Given the description of an element on the screen output the (x, y) to click on. 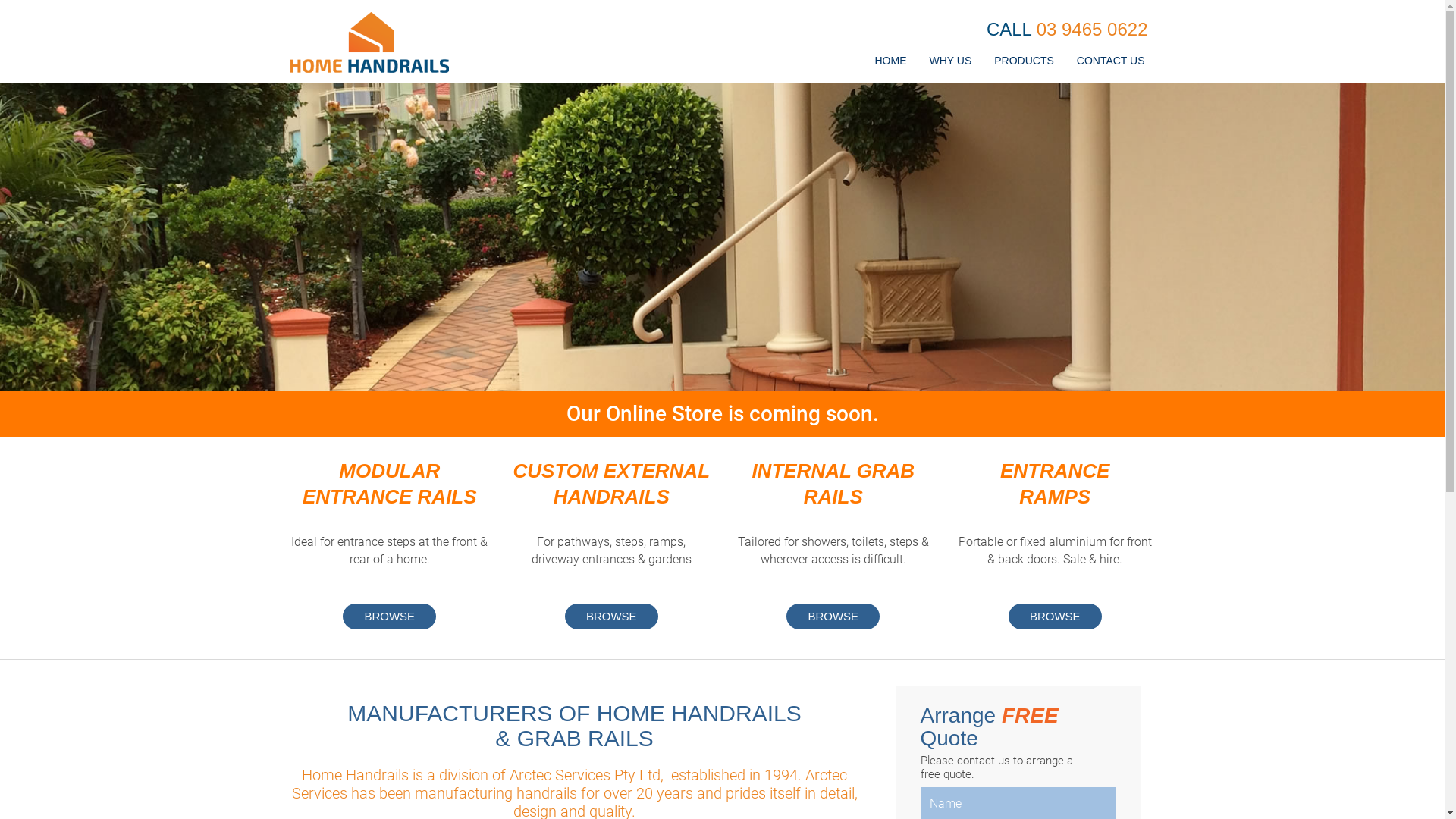
CALL 03 9465 0622 Element type: text (1067, 29)
HOME Element type: text (890, 64)
PRODUCTS Element type: text (1024, 64)
BROWSE Element type: text (1054, 615)
BROWSE Element type: text (389, 615)
BROWSE Element type: text (832, 615)
WHY US Element type: text (949, 64)
Home Handrails Element type: hover (368, 42)
CONTACT US Element type: text (1110, 64)
BROWSE Element type: text (611, 615)
